Given the description of an element on the screen output the (x, y) to click on. 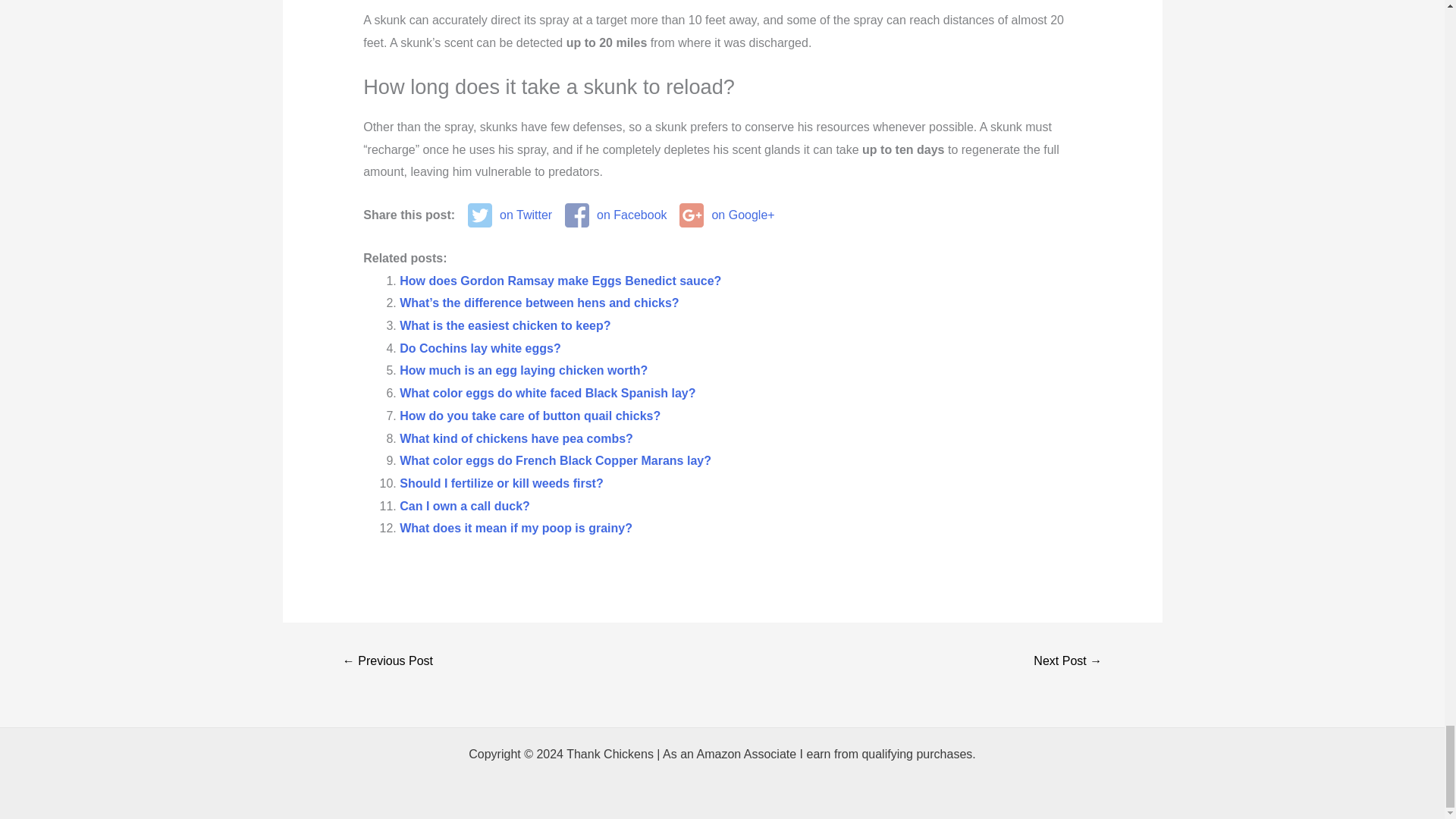
What color eggs do white faced Black Spanish lay? (546, 392)
How does Gordon Ramsay make Eggs Benedict sauce? (559, 280)
How do you take care of button quail chicks? (529, 415)
What color eggs do French Black Copper Marans lay? (554, 460)
How much is an egg laying chicken worth? (522, 369)
on Twitter (510, 215)
What color eggs do white faced Black Spanish lay? (546, 392)
Can I own a call duck? (463, 505)
Do Cochins lay white eggs? (479, 348)
How does Gordon Ramsay make Eggs Benedict sauce? (559, 280)
How much is an egg laying chicken worth? (522, 369)
What is the easiest chicken to keep? (504, 325)
on Facebook (615, 215)
Do Cochins lay white eggs? (479, 348)
What is the easiest chicken to keep? (504, 325)
